Given the description of an element on the screen output the (x, y) to click on. 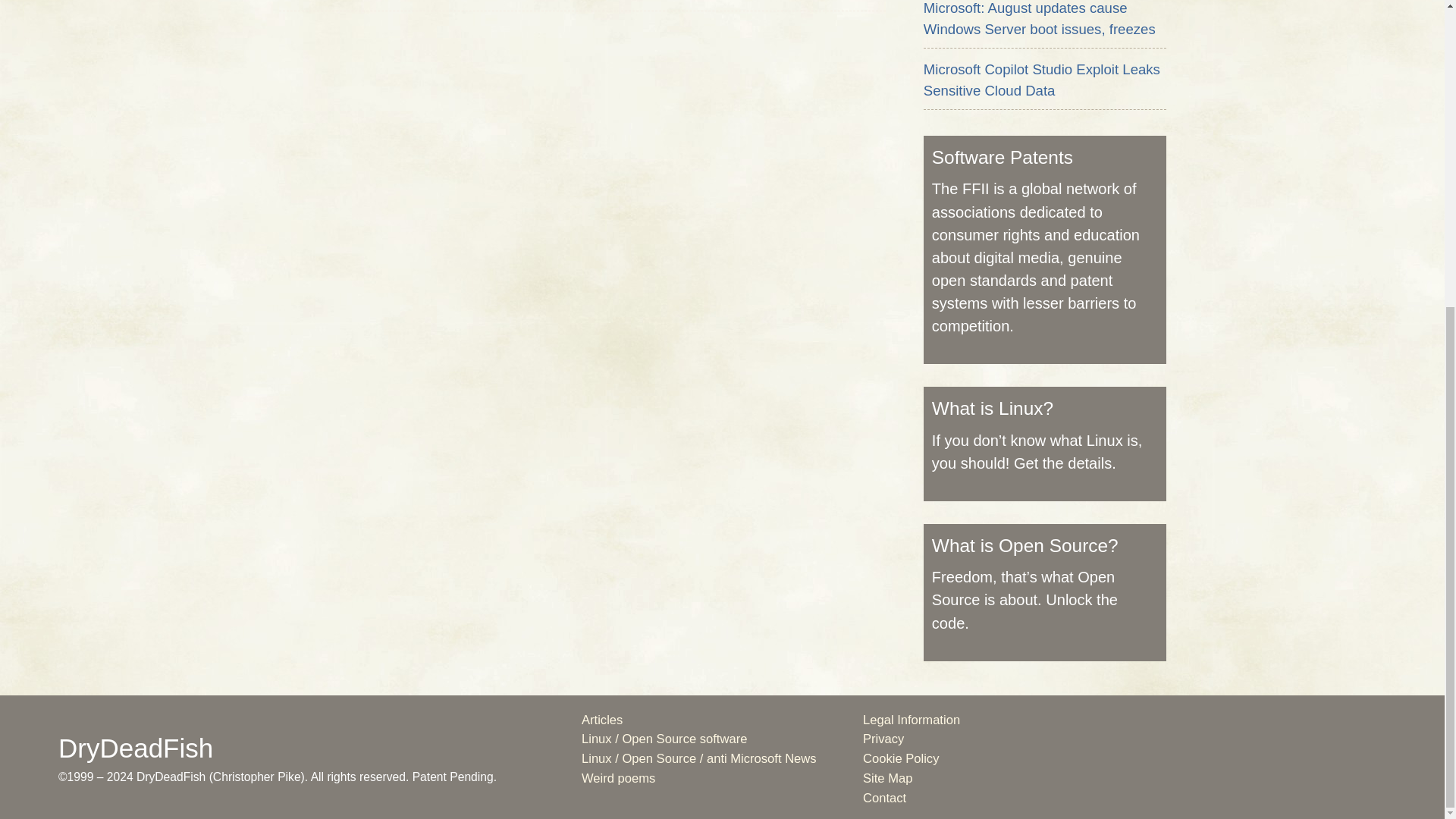
Cookie Policy (901, 758)
Site Map (887, 778)
Legal Information (911, 719)
Privacy (883, 739)
Contact (884, 798)
Articles (601, 719)
Weird poems (617, 778)
Microsoft Copilot Studio Exploit Leaks Sensitive Cloud Data (1041, 79)
